Given the description of an element on the screen output the (x, y) to click on. 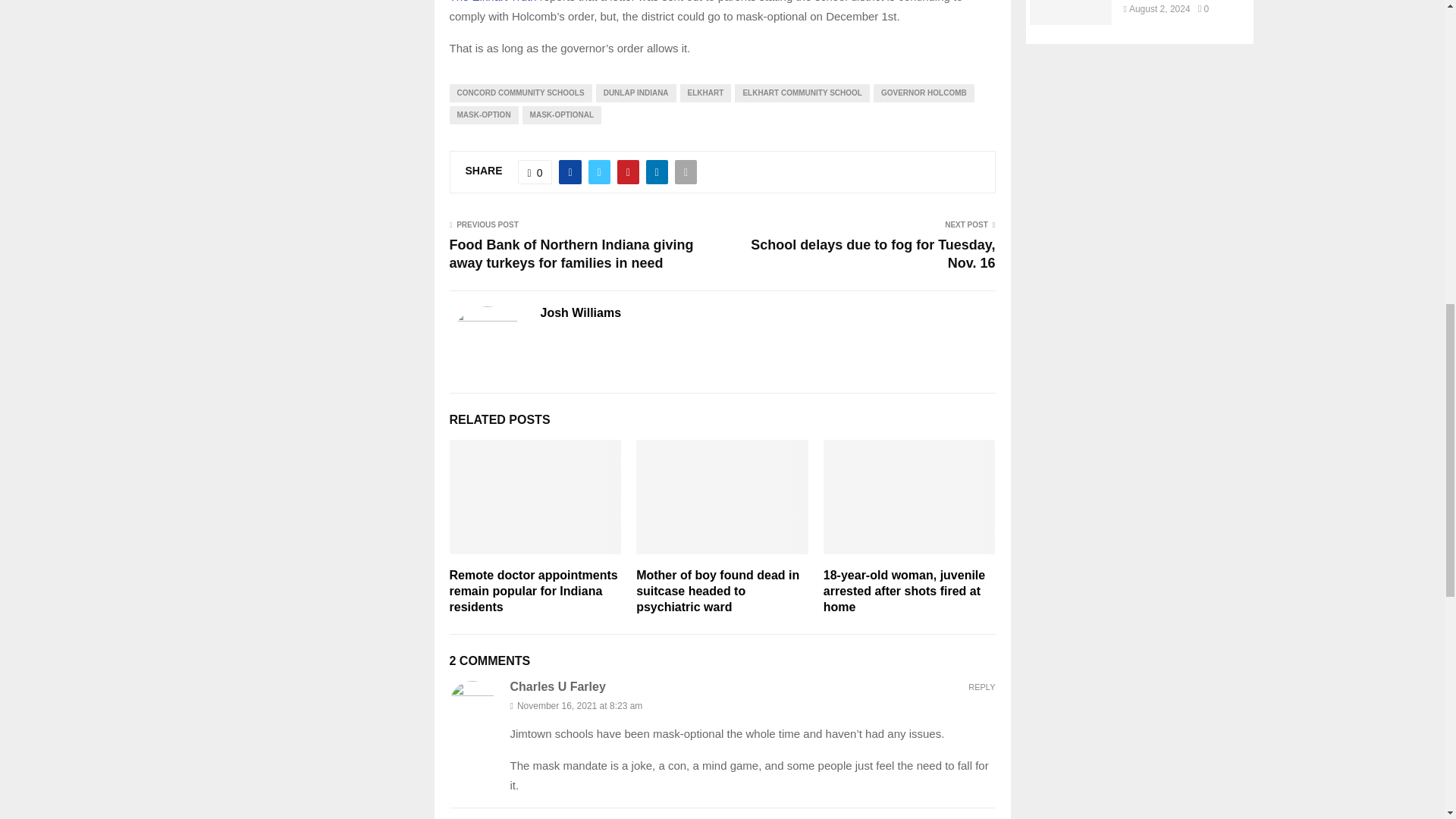
Tuesday, November 16, 2021, 8:23 am (751, 705)
Posts by Josh Williams (580, 313)
Like (535, 171)
